Given the description of an element on the screen output the (x, y) to click on. 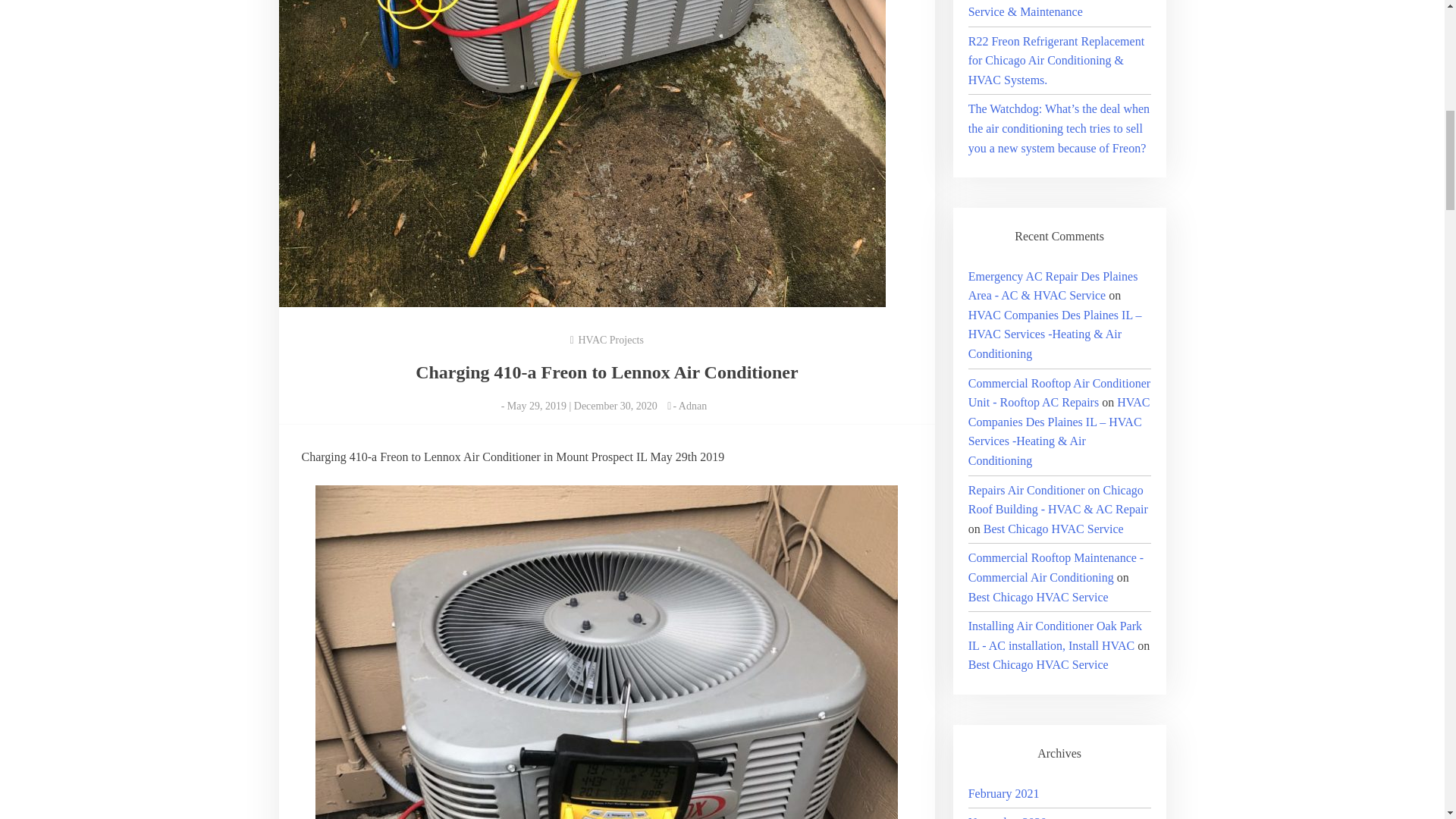
Adnan (692, 405)
Best Chicago HVAC Service (1038, 596)
Commercial Rooftop Maintenance - Commercial Air Conditioning (1055, 567)
HVAC Projects (610, 339)
Commercial Rooftop Air Conditioner Unit - Rooftop AC Repairs (1059, 392)
Best Chicago HVAC Service (1054, 528)
